Given the description of an element on the screen output the (x, y) to click on. 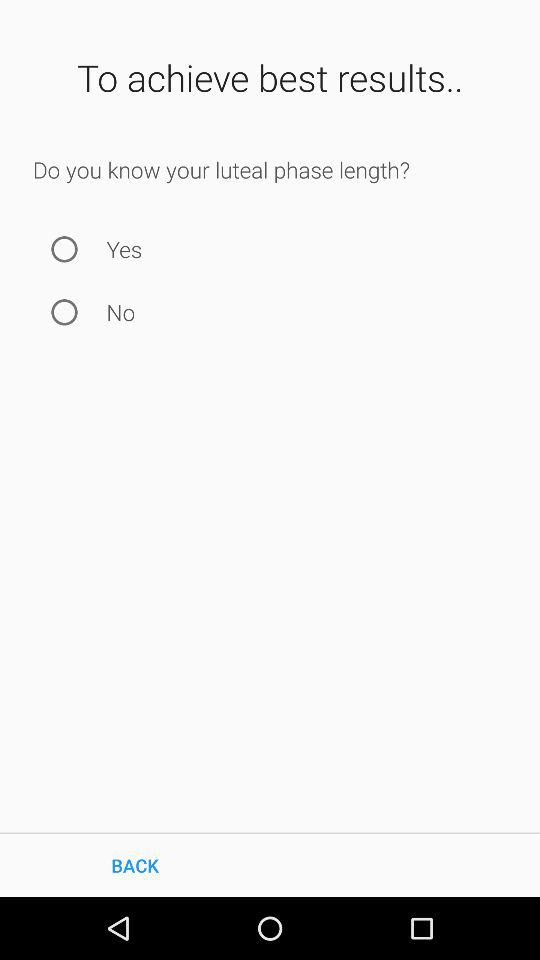
select option (64, 311)
